Given the description of an element on the screen output the (x, y) to click on. 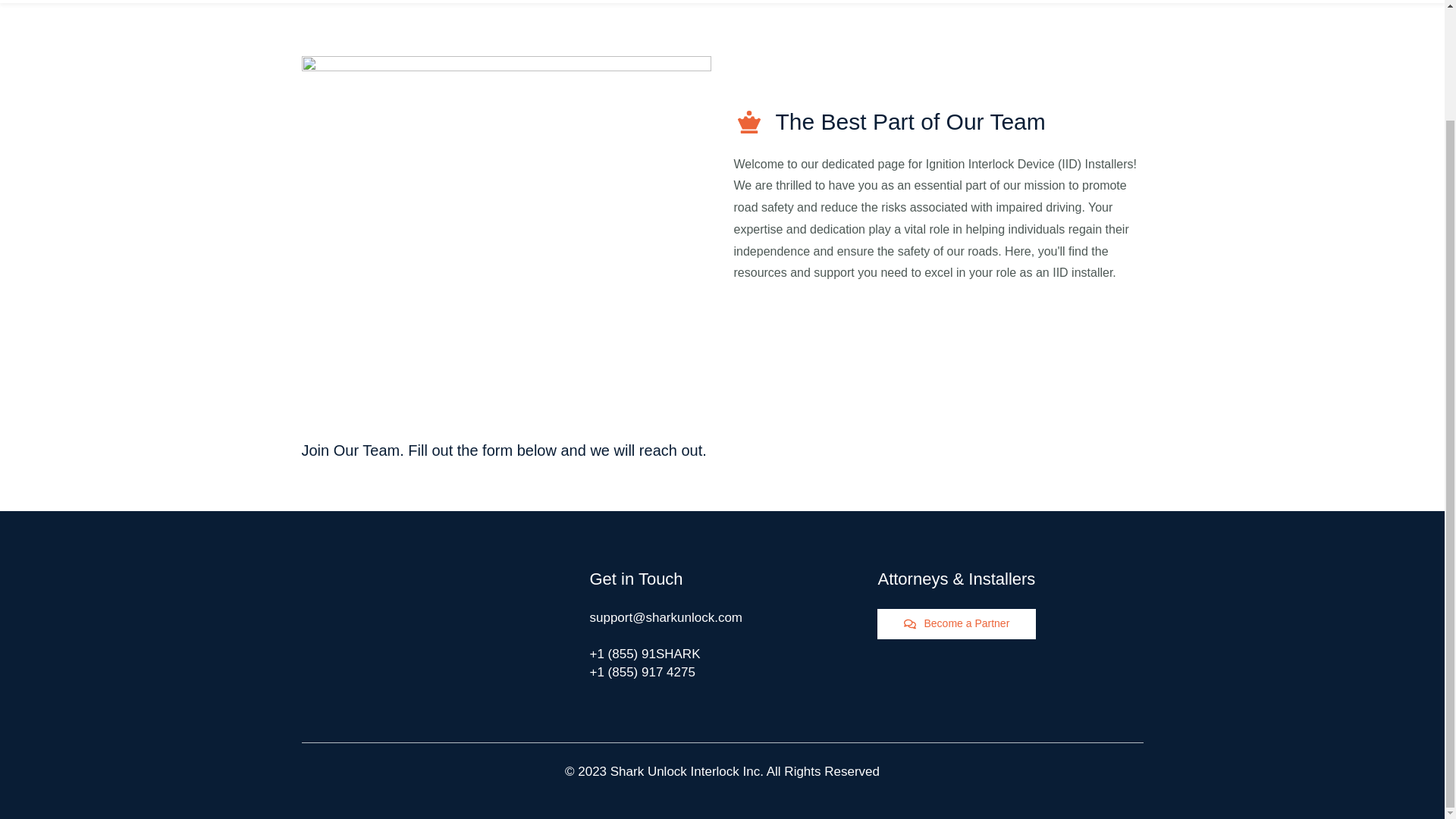
Become a Partner (956, 624)
